Given the description of an element on the screen output the (x, y) to click on. 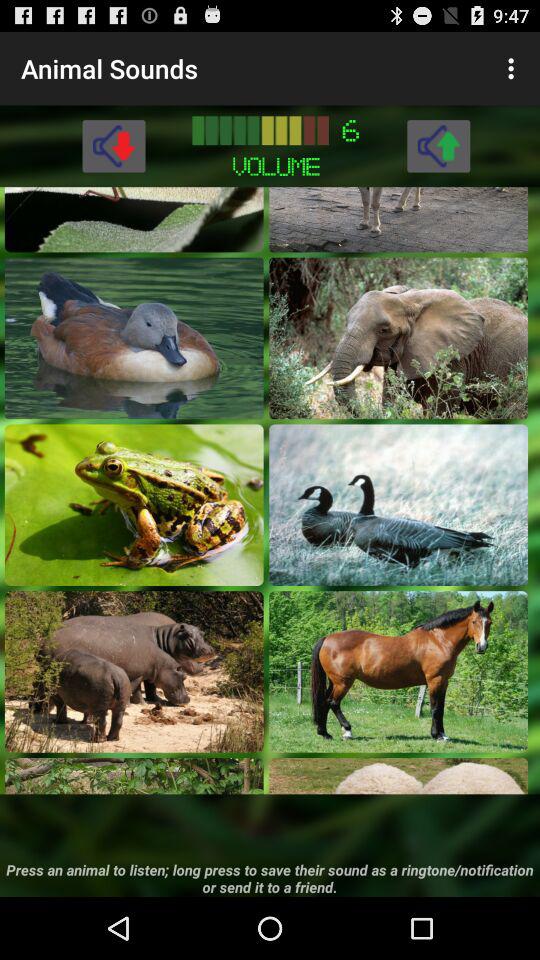
image selection (398, 775)
